Given the description of an element on the screen output the (x, y) to click on. 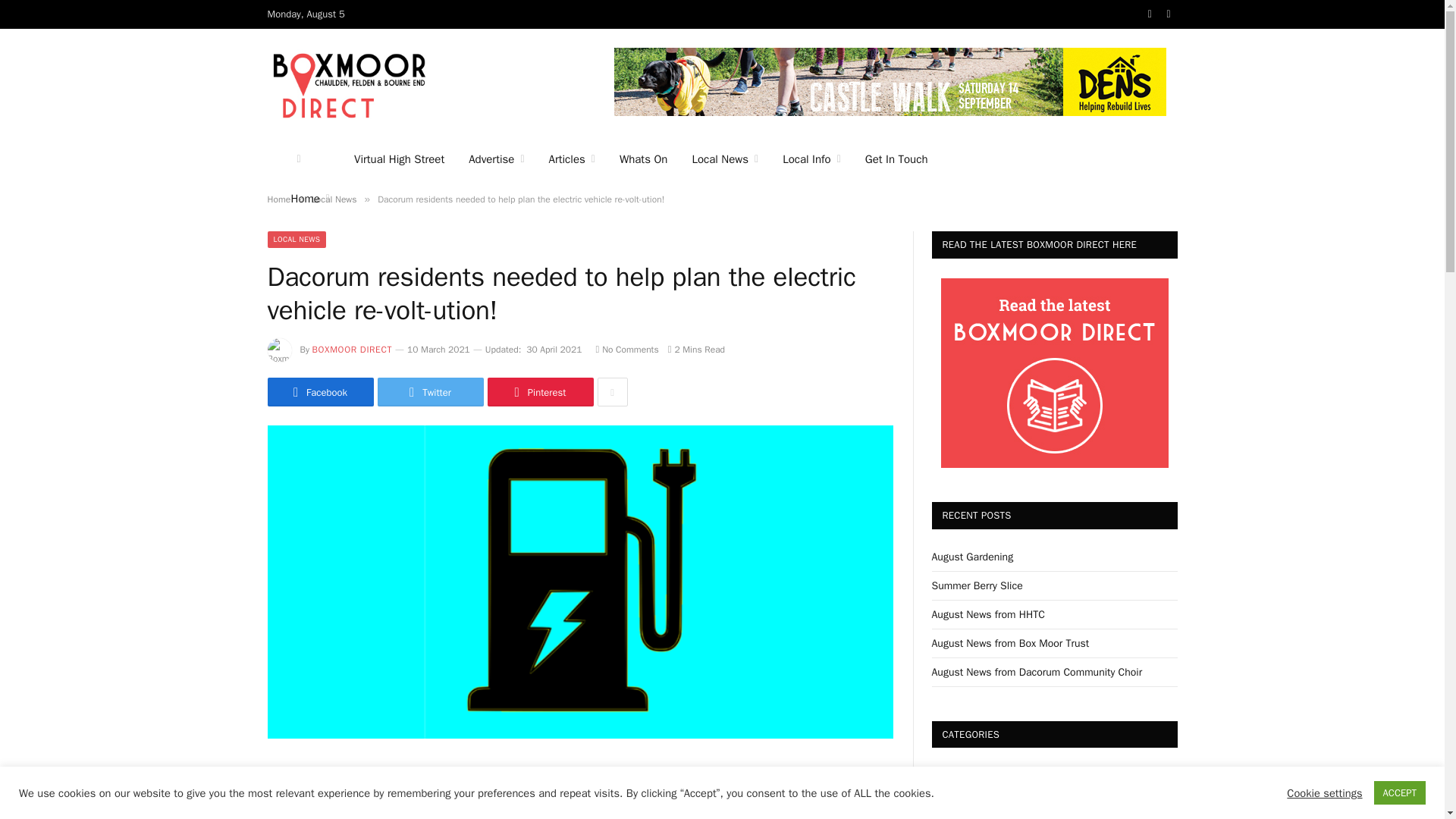
Home (310, 198)
Local News (724, 159)
Show More Social Sharing (611, 391)
Posts by Boxmoor Direct (353, 349)
Whats On (643, 159)
Advertise (496, 159)
Share on Facebook (319, 391)
Virtual High Street (399, 159)
Facebook (1149, 14)
Boxmoor Direct (347, 83)
Share on Pinterest (539, 391)
Articles (572, 159)
